Given the description of an element on the screen output the (x, y) to click on. 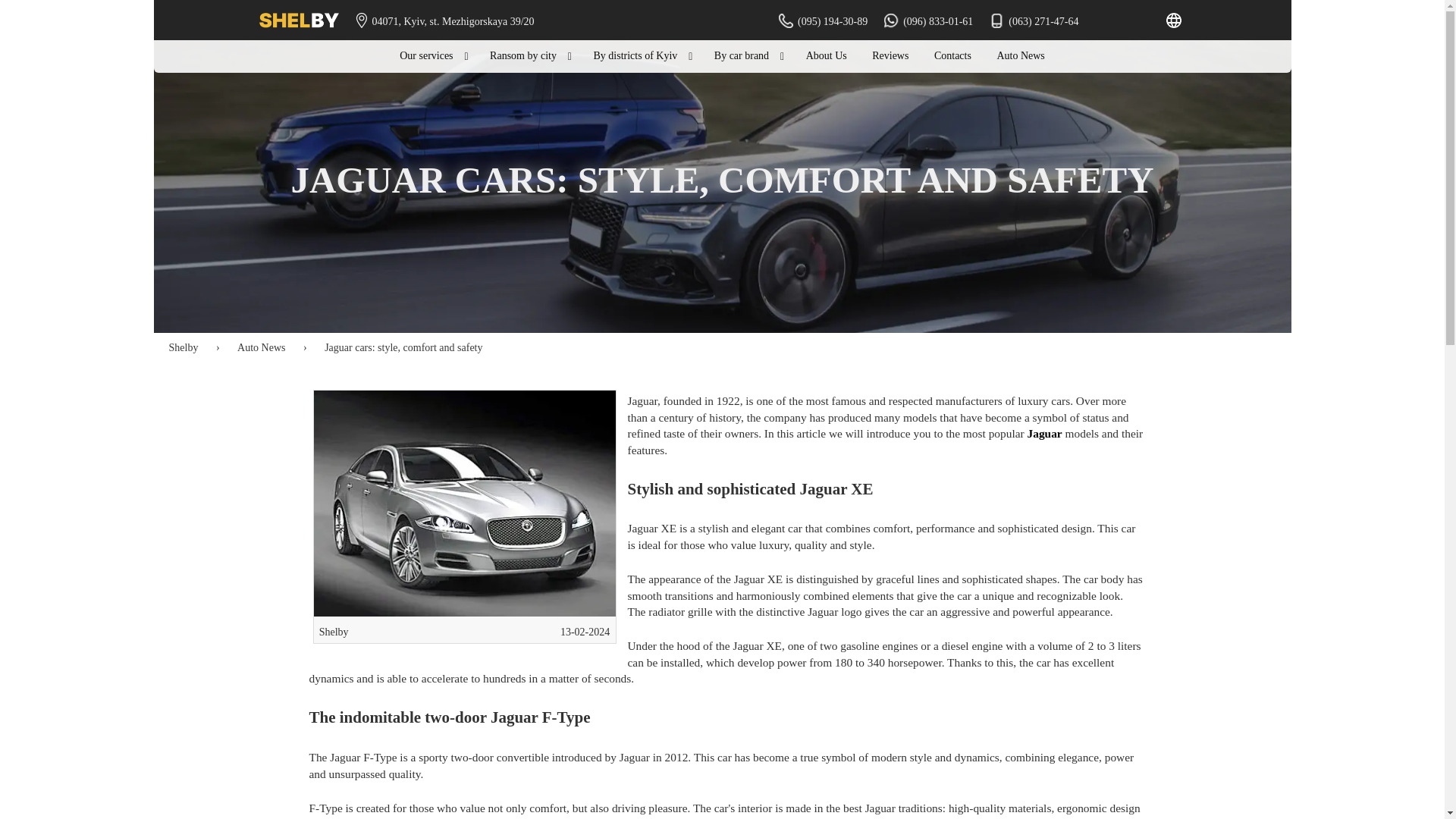
Ransom by city (529, 56)
Our services (432, 56)
By districts of Kyiv (640, 56)
